Given the description of an element on the screen output the (x, y) to click on. 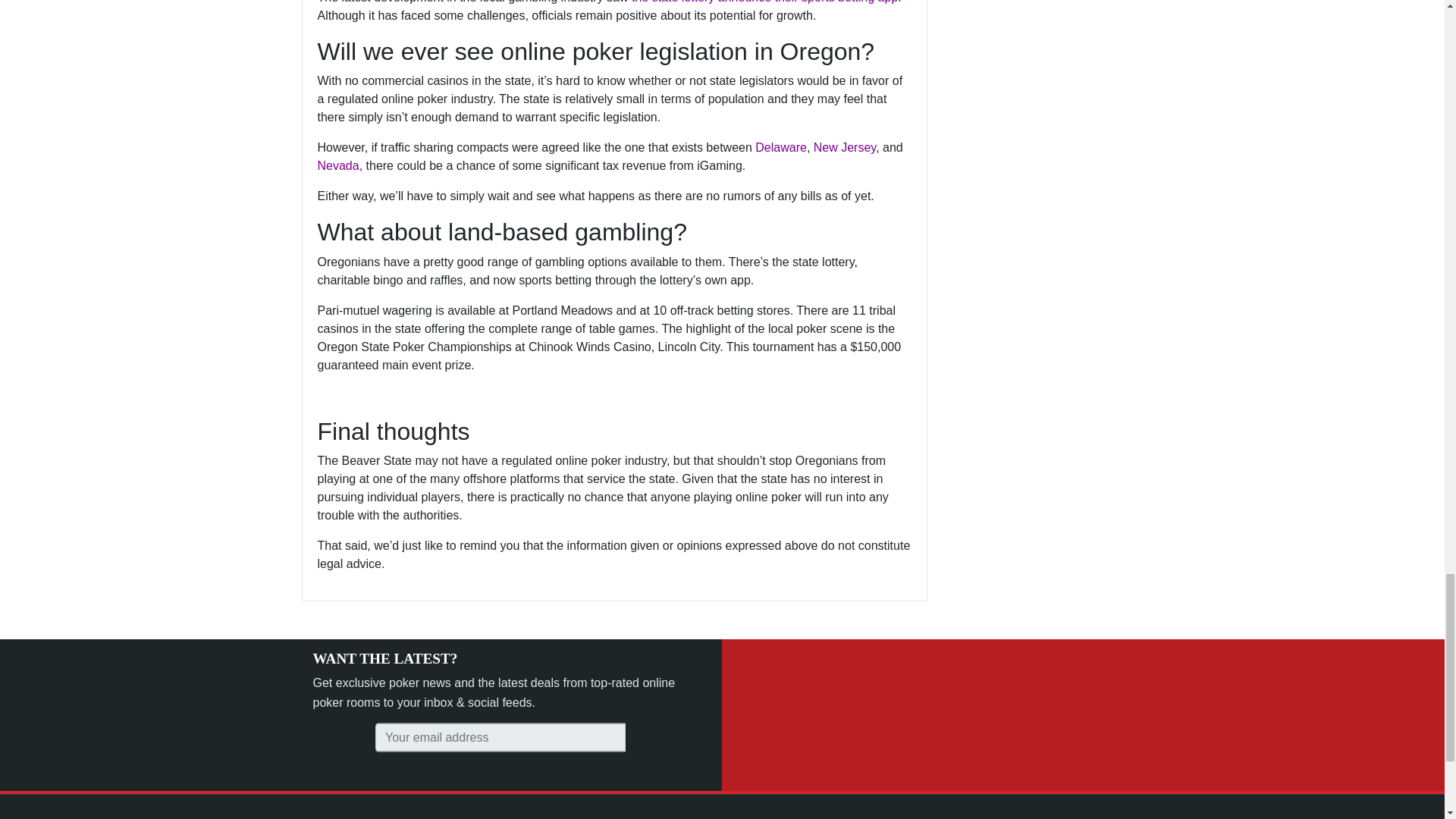
Nevada (337, 164)
the state lottery announce their sports betting app (764, 2)
New Jersey (844, 146)
Delaware (780, 146)
Newsletter (500, 737)
